Given the description of an element on the screen output the (x, y) to click on. 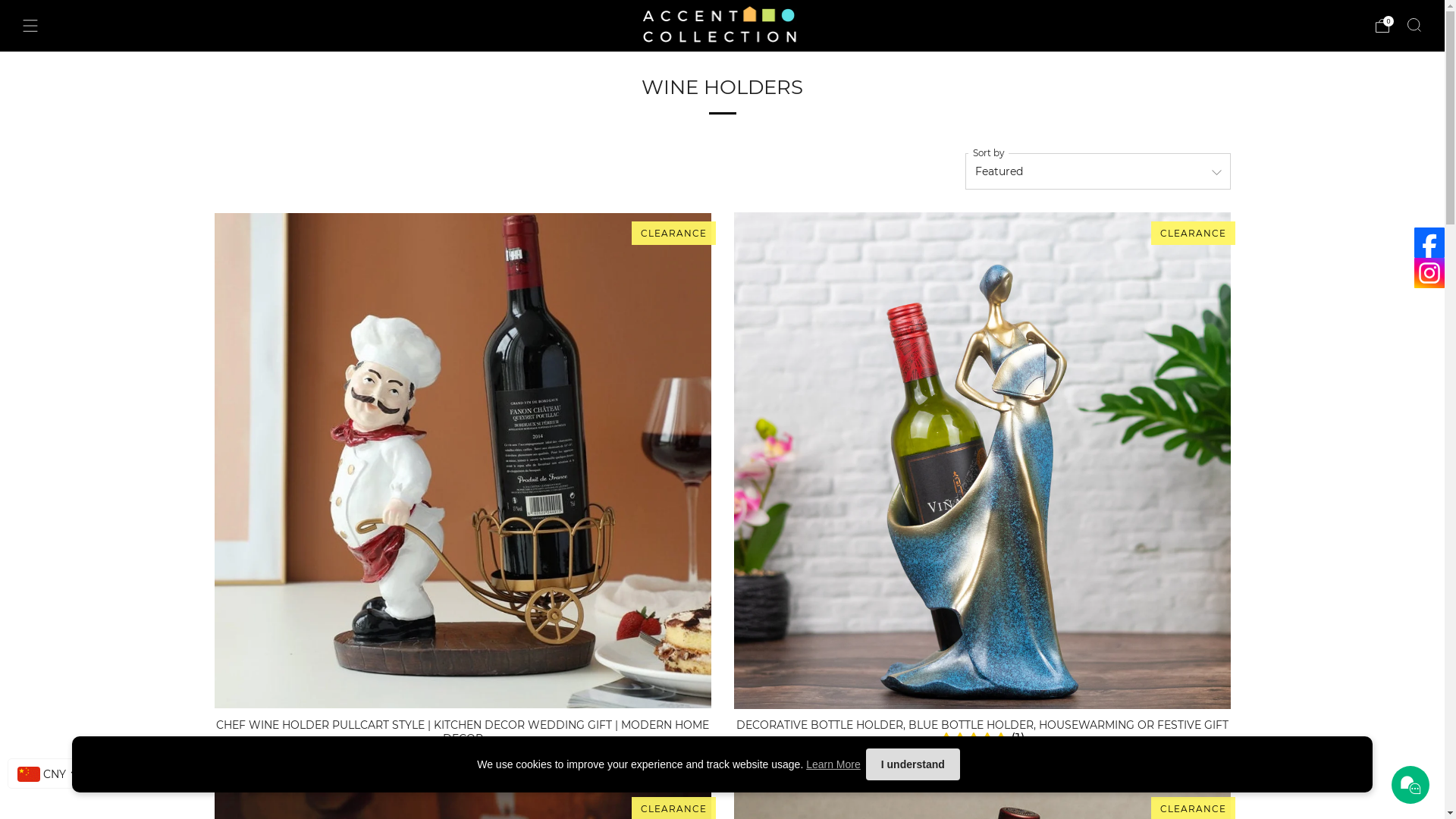
Facebook Element type: hover (1429, 242)
0 Element type: text (1382, 25)
Learn More Element type: text (833, 764)
Instagram Element type: hover (1429, 272)
